Given the description of an element on the screen output the (x, y) to click on. 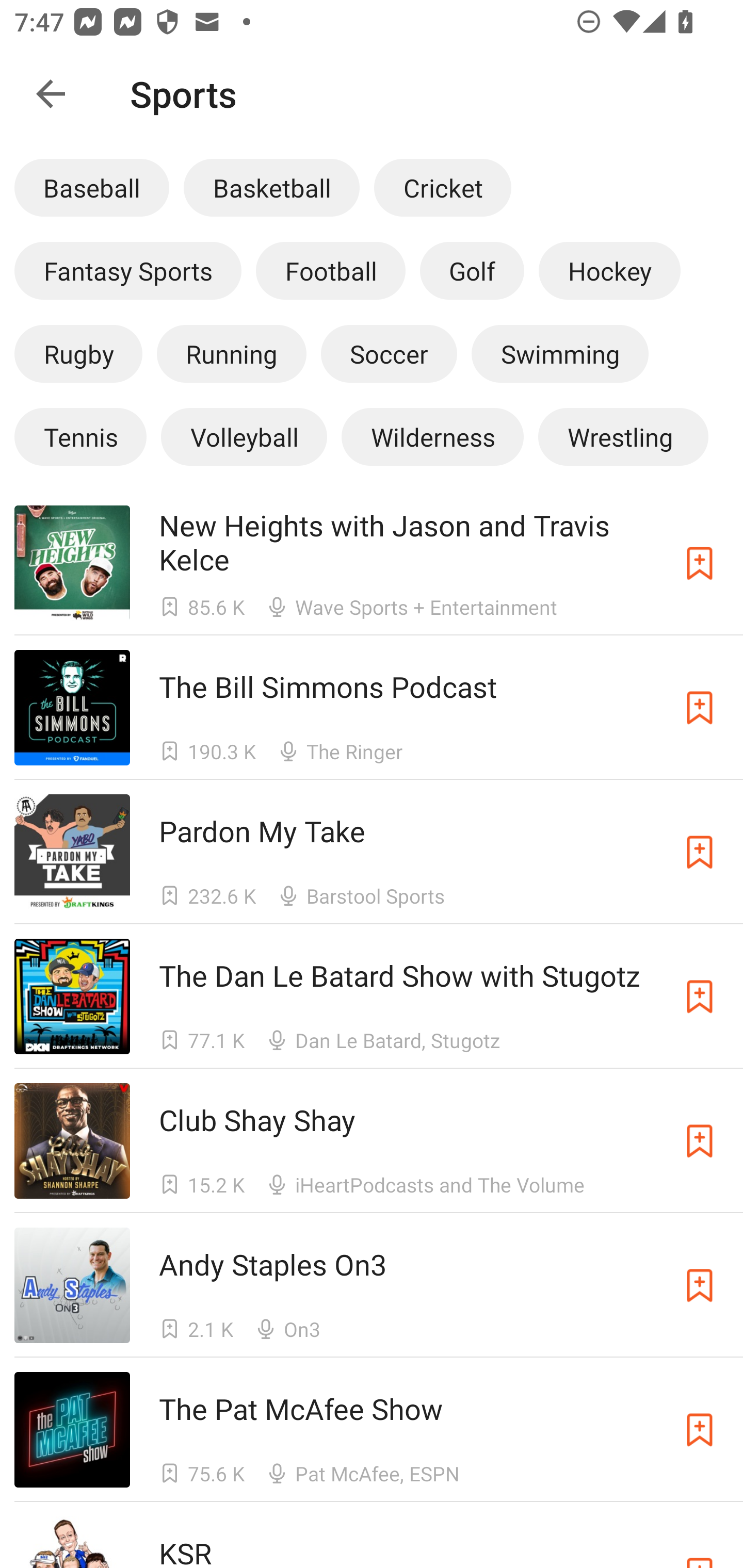
Navigate up (50, 93)
Baseball (91, 187)
Basketball (271, 187)
Cricket (442, 187)
Fantasy Sports (127, 270)
Football (330, 270)
Golf (471, 270)
Hockey (609, 270)
Rugby (78, 353)
Running (231, 353)
Soccer (388, 353)
Swimming (559, 353)
Tennis (80, 436)
Volleyball (243, 436)
Wilderness (432, 436)
Wrestling  (622, 436)
Subscribe (699, 562)
Subscribe (699, 707)
Subscribe (699, 851)
Subscribe (699, 996)
Subscribe (699, 1140)
Subscribe (699, 1285)
Subscribe (699, 1430)
